Given the description of an element on the screen output the (x, y) to click on. 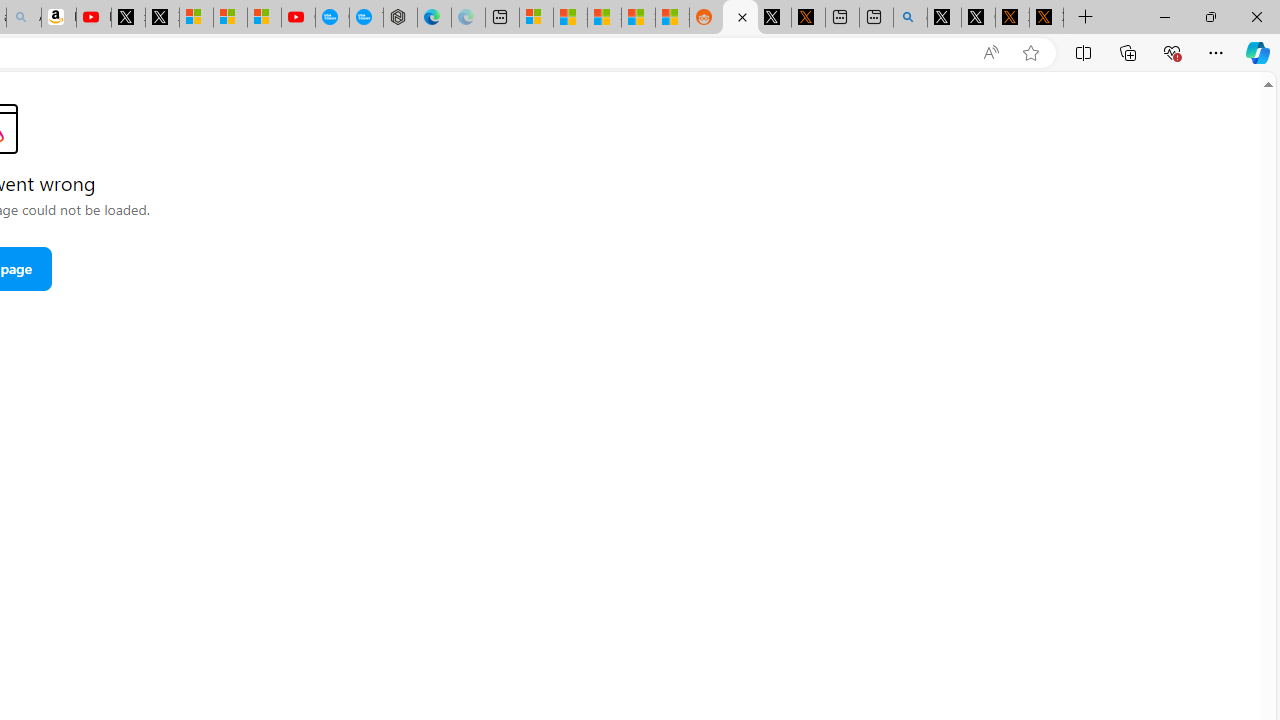
Shanghai, China hourly forecast | Microsoft Weather (603, 17)
Log in to X / X (774, 17)
Gloom - YouTube (297, 17)
Opinion: Op-Ed and Commentary - USA TODAY (332, 17)
help.x.com | 524: A timeout occurred (808, 17)
